Given the description of an element on the screen output the (x, y) to click on. 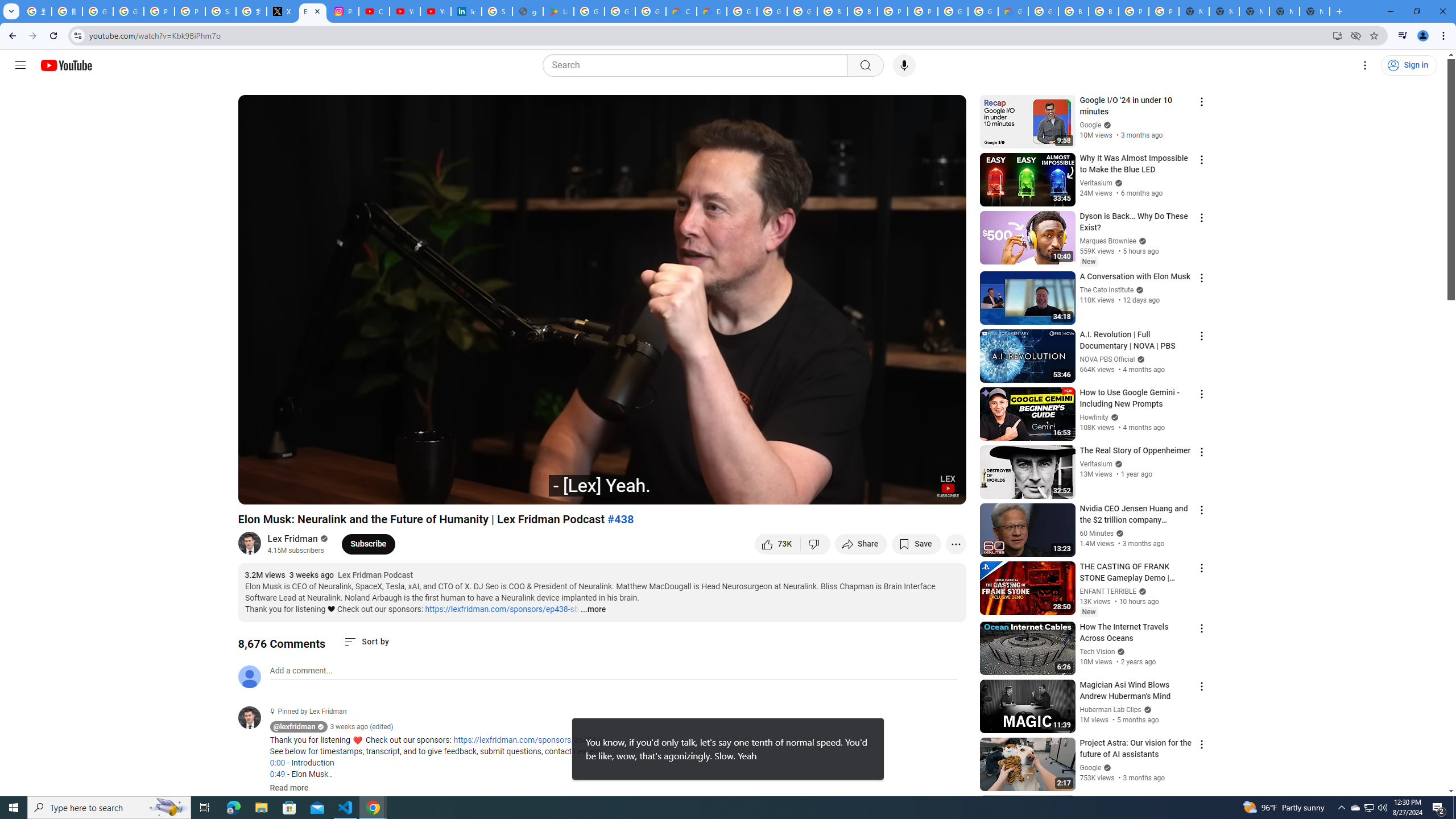
X (282, 11)
Verified (1106, 767)
like this video along with 73,133 other people (777, 543)
@lexfridman (253, 717)
Next (SHIFT+n) (284, 490)
https://lexfridman.com/sponsors/ep438-sa (529, 740)
Dislike this video (815, 543)
0:49 (277, 773)
